Given the description of an element on the screen output the (x, y) to click on. 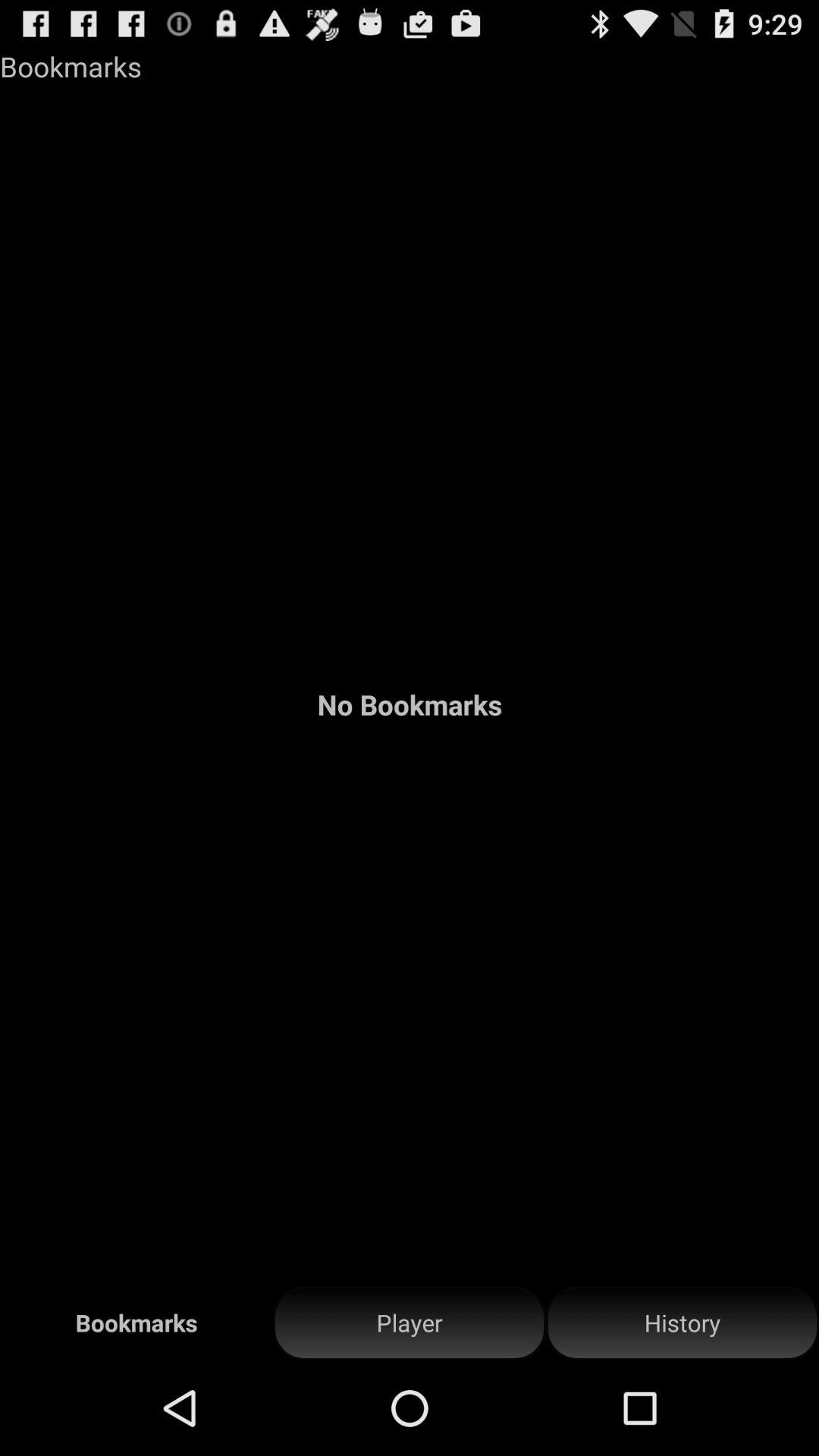
open the history at the bottom right corner (682, 1323)
